Given the description of an element on the screen output the (x, y) to click on. 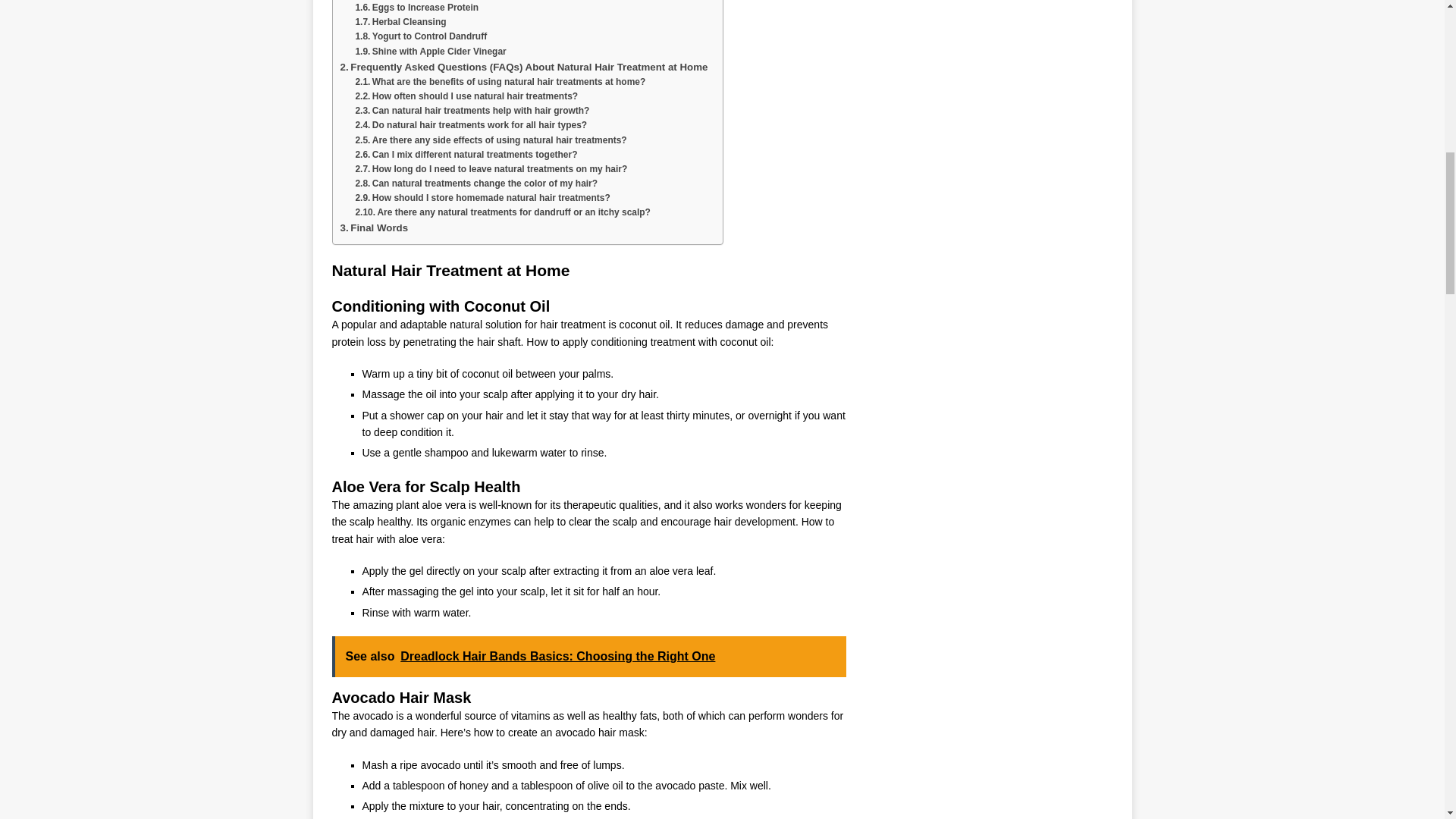
Herbal Cleansing (400, 22)
Are there any side effects of using natural hair treatments? (490, 140)
Shine with Apple Cider Vinegar (430, 51)
Do natural hair treatments work for all hair types? (470, 124)
Yogurt to Control Dandruff (420, 36)
How often should I use natural hair treatments? (466, 96)
Can natural hair treatments help with hair growth? (472, 110)
Eggs to Increase Protein (417, 7)
